Given the description of an element on the screen output the (x, y) to click on. 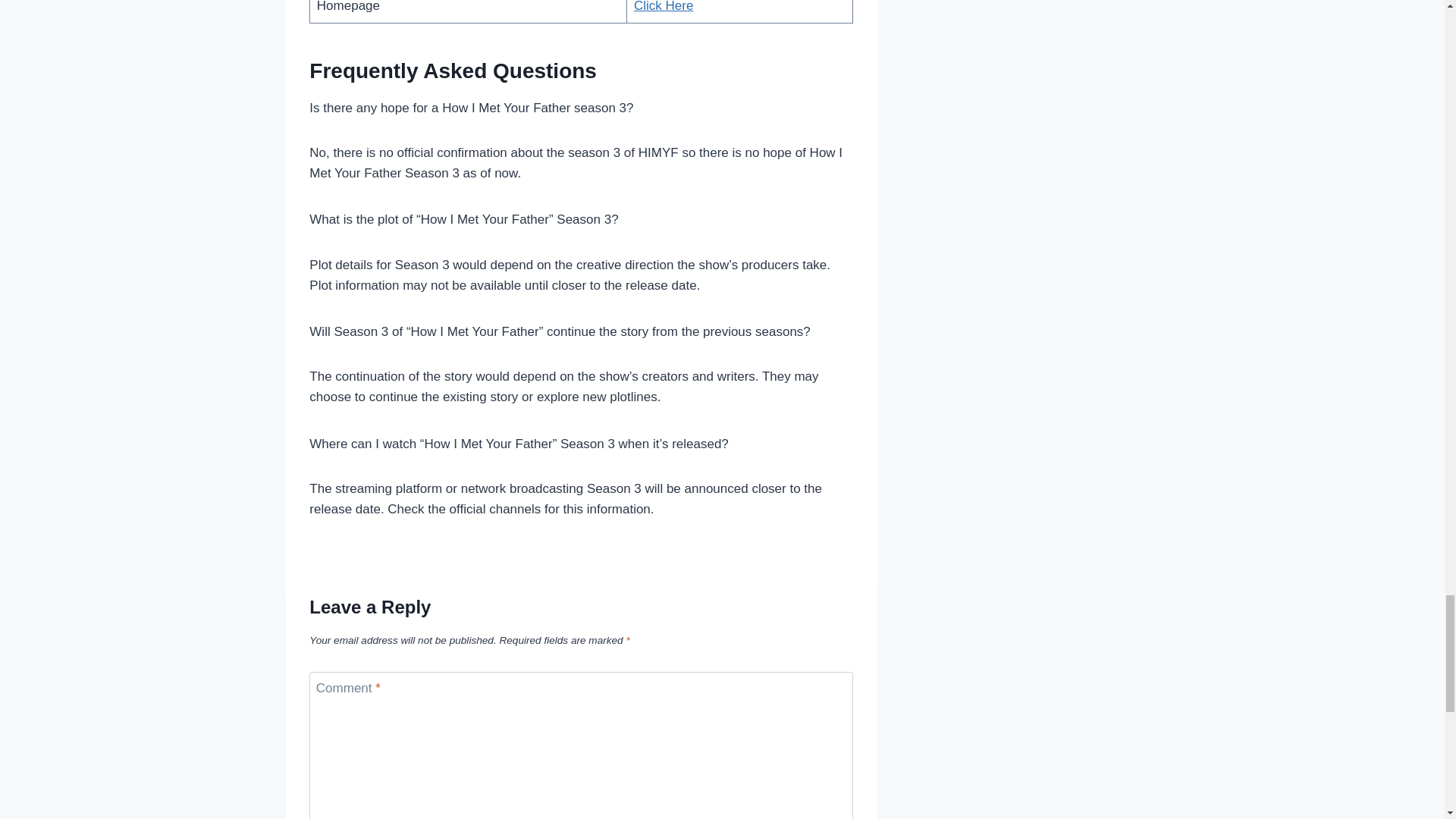
Click Here (663, 6)
